Given the description of an element on the screen output the (x, y) to click on. 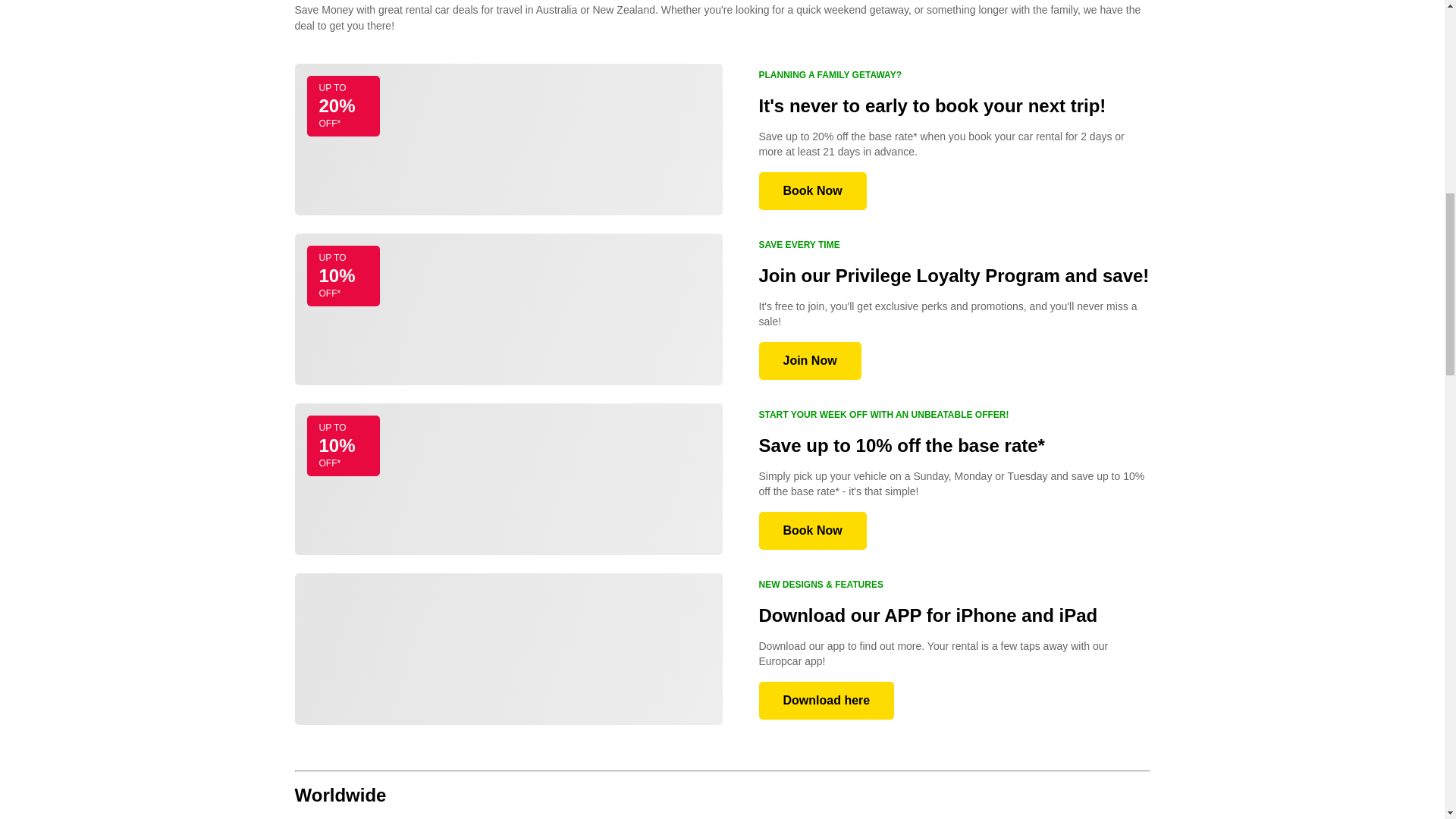
Book Now (812, 530)
Join Now (809, 361)
Book Now (812, 190)
Download here (825, 700)
